Given the description of an element on the screen output the (x, y) to click on. 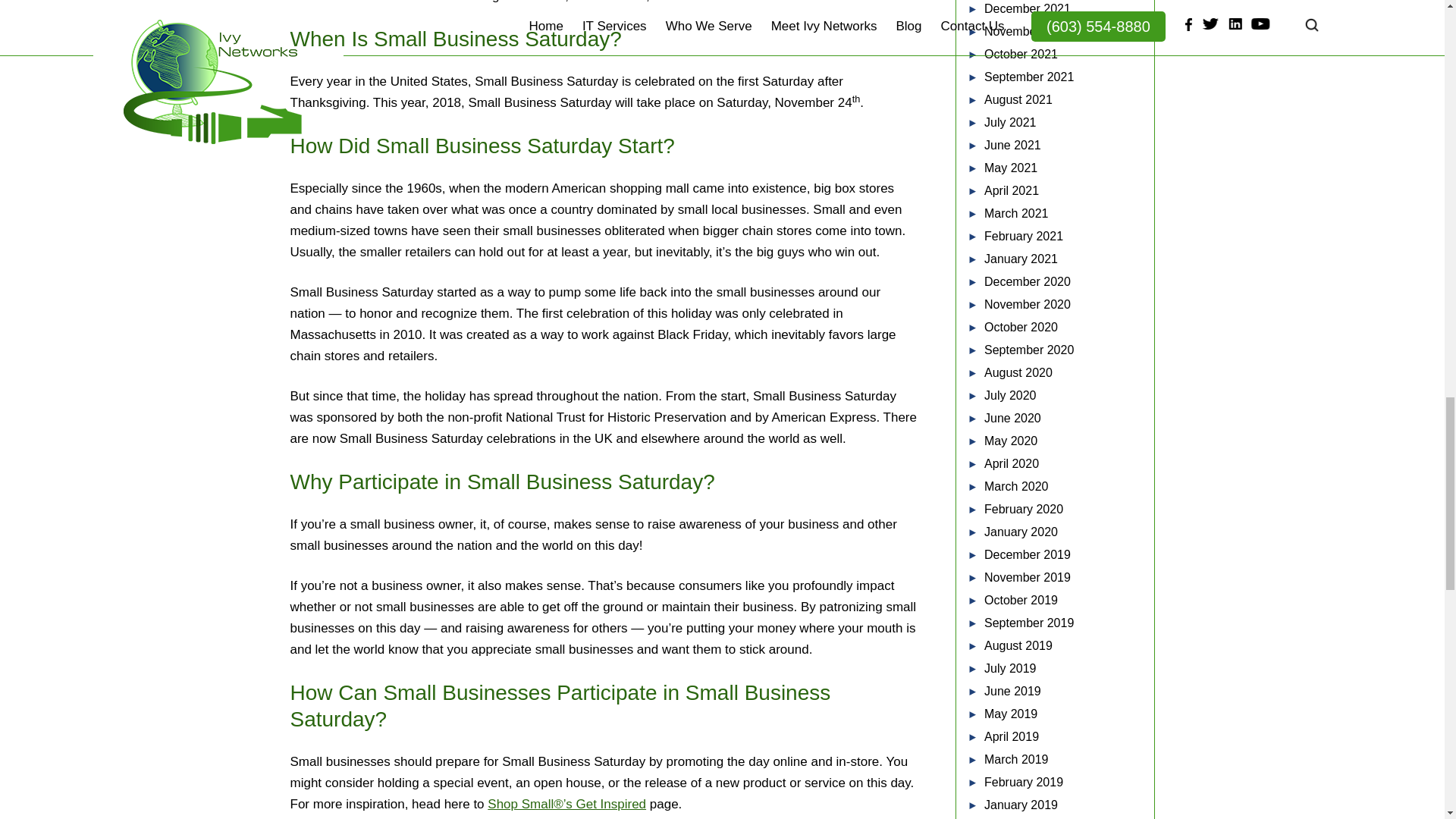
November 2021 (1027, 31)
December 2021 (1027, 8)
